Given the description of an element on the screen output the (x, y) to click on. 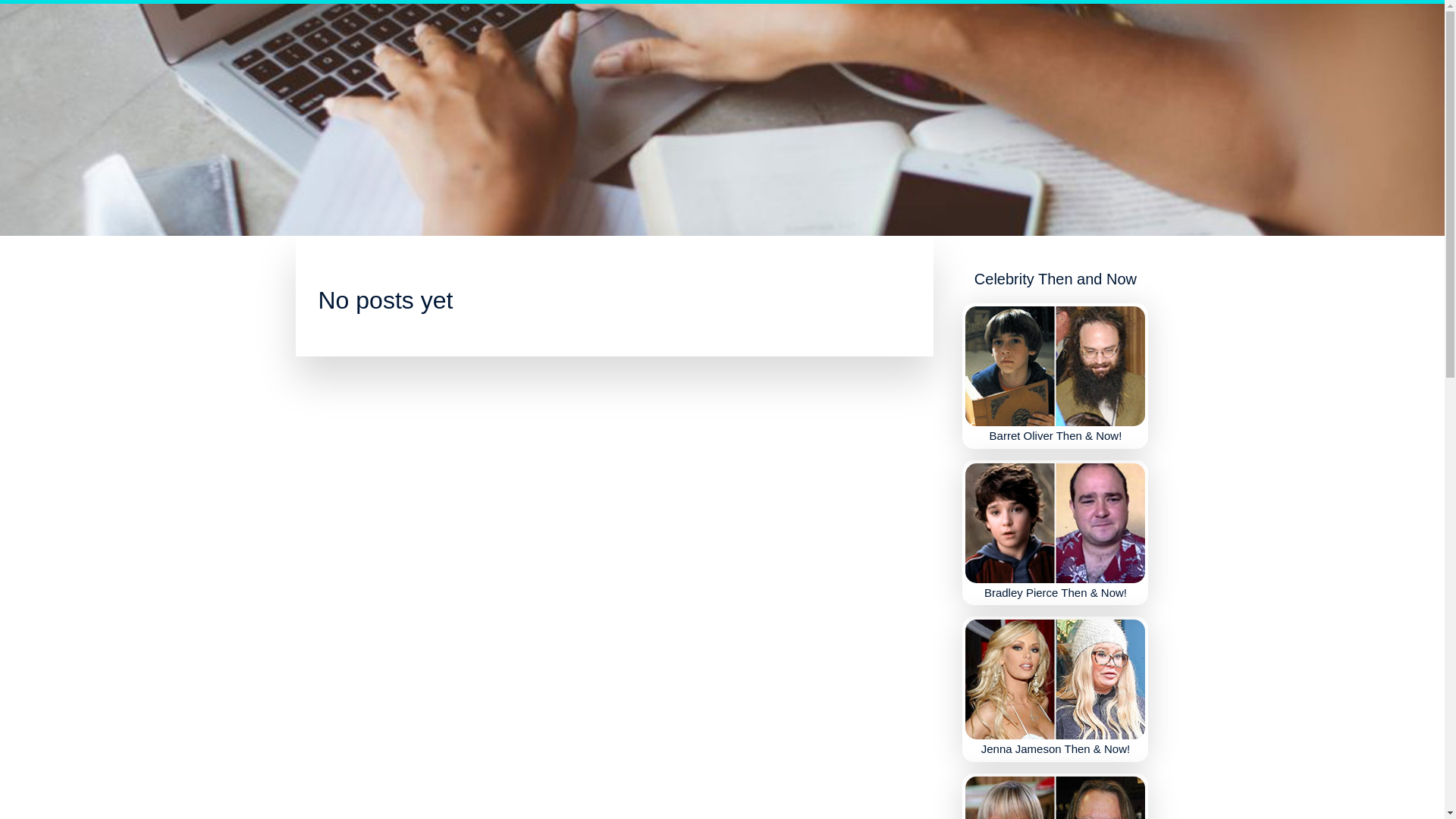
Skip to content (37, 9)
